Given the description of an element on the screen output the (x, y) to click on. 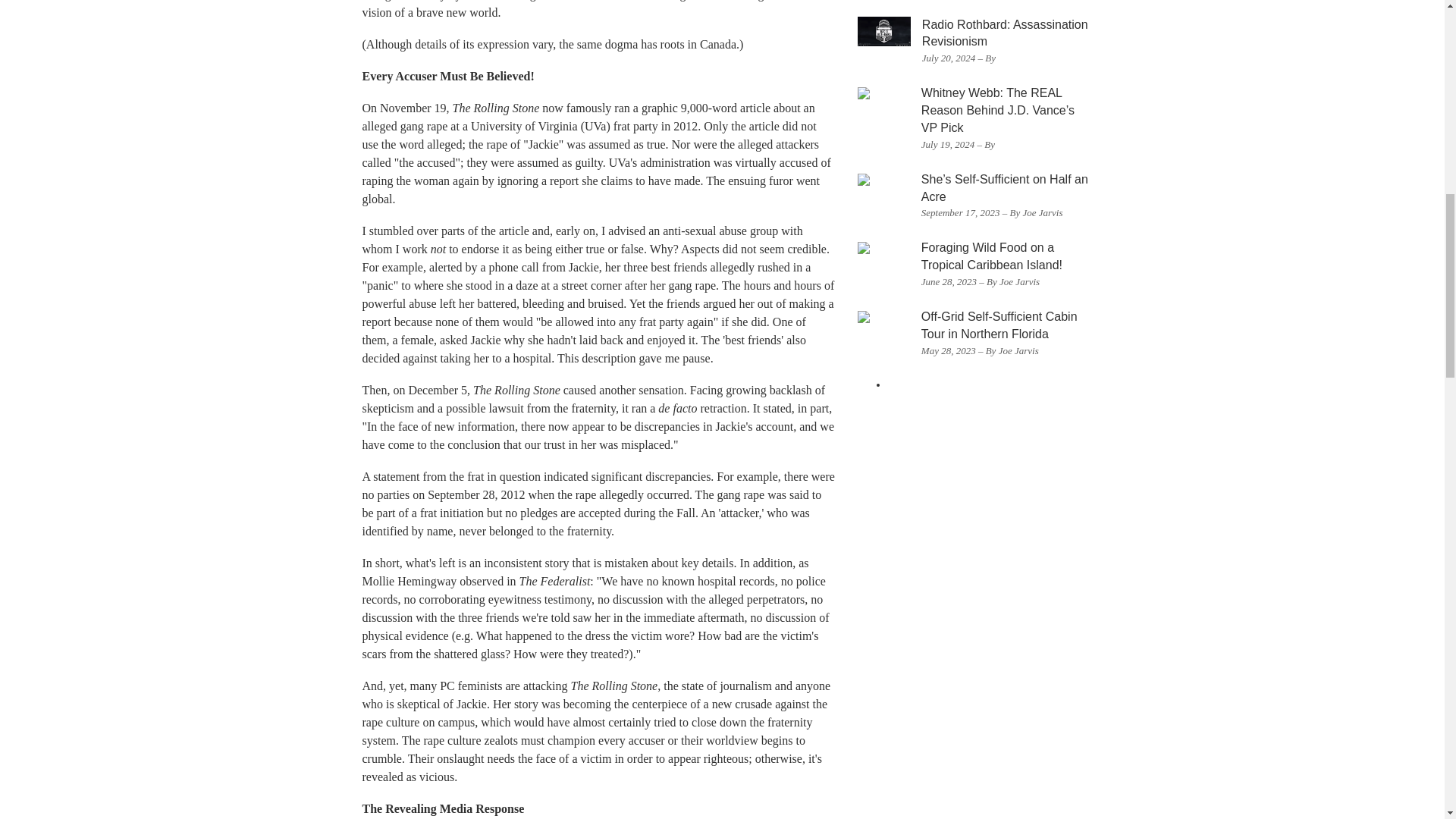
Foraging Wild Food on a Tropical Caribbean Island! (991, 255)
Off-Grid Self-Sufficient Cabin Tour in Northern Florida (999, 325)
Radio Rothbard: Assassination Revisionism (1004, 33)
